Given the description of an element on the screen output the (x, y) to click on. 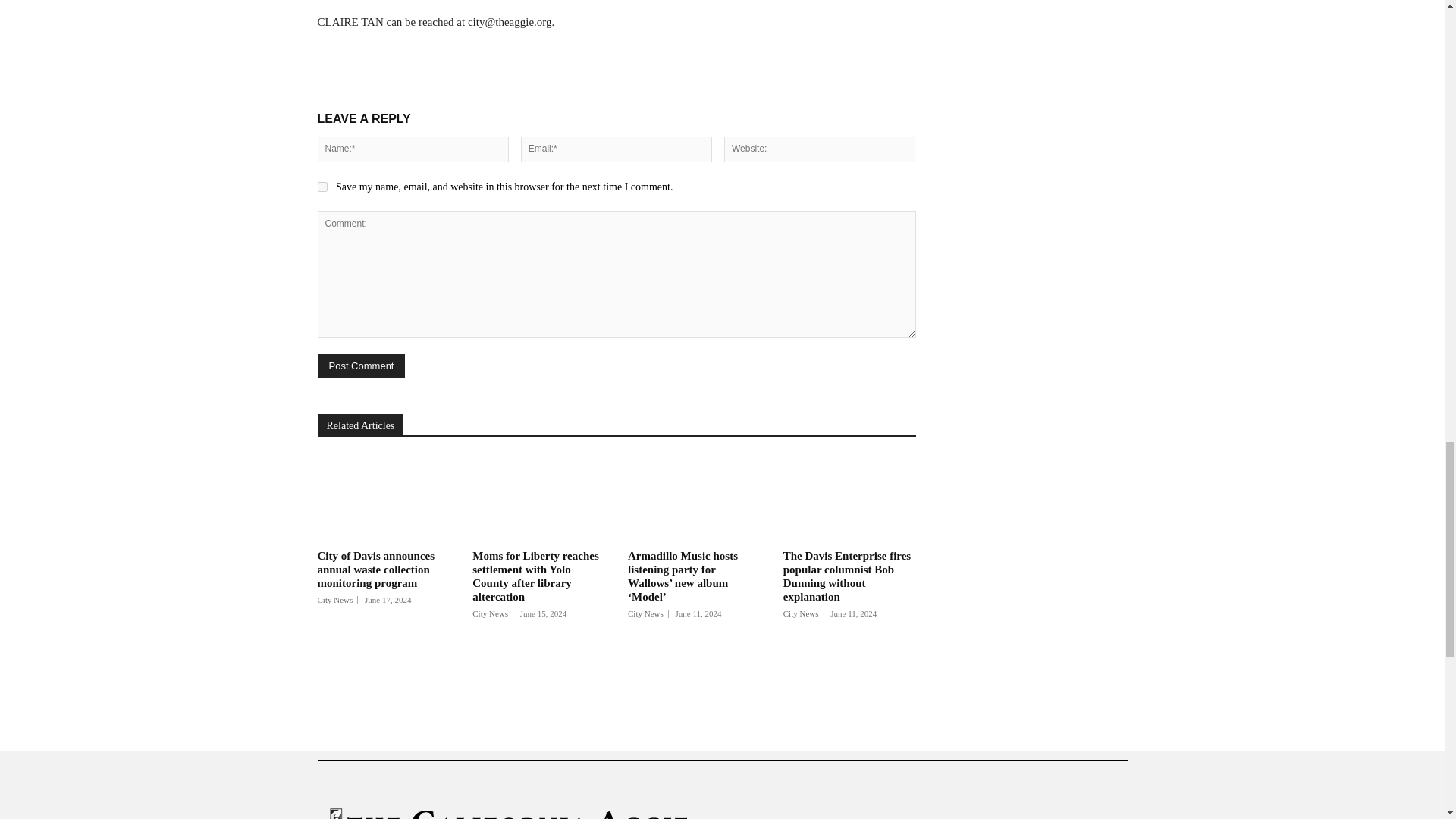
Post Comment (360, 365)
yes (321, 186)
